Given the description of an element on the screen output the (x, y) to click on. 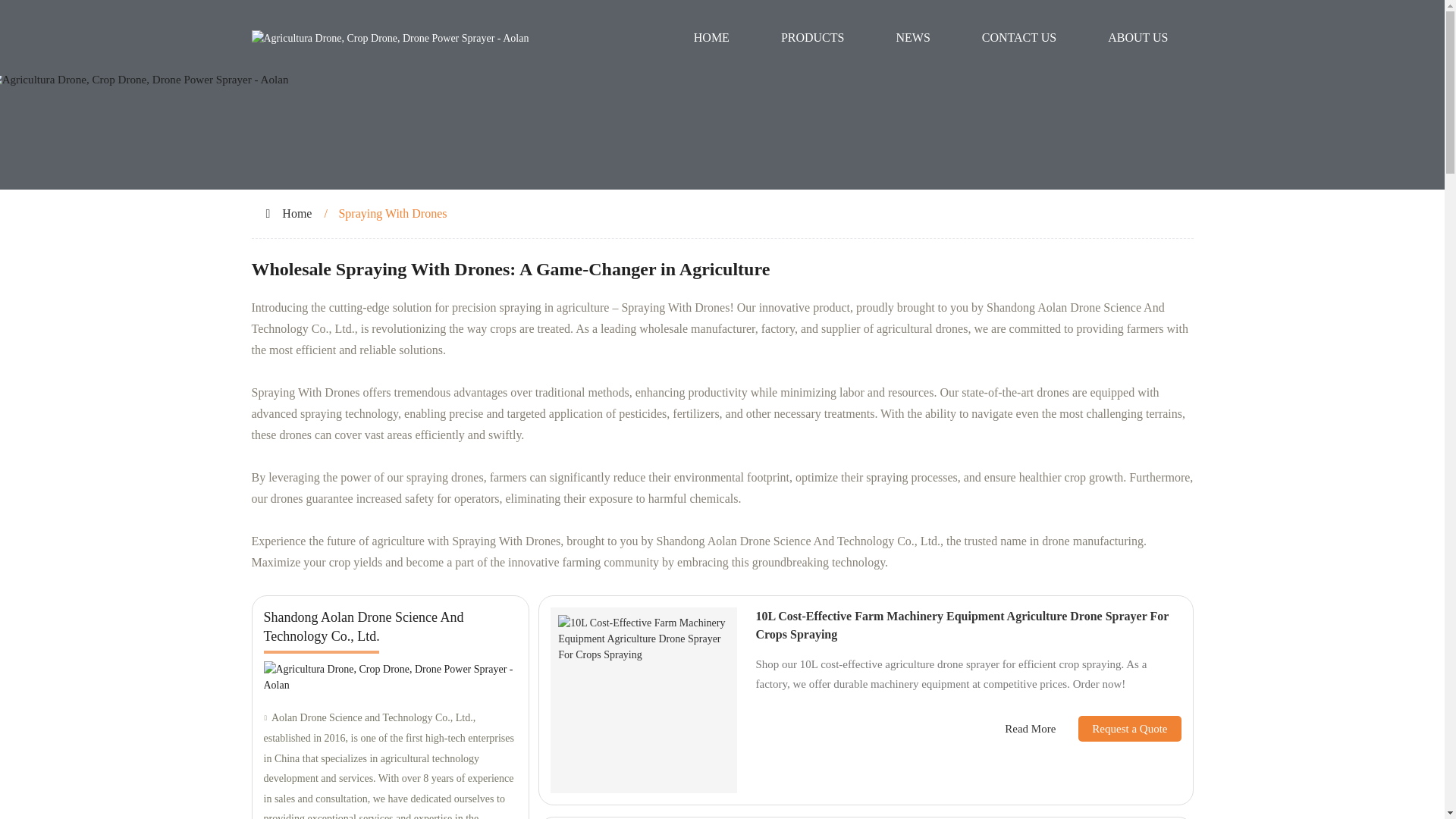
Home (296, 213)
PRODUCTS (812, 38)
Read More (1029, 728)
Request a Quote (1117, 728)
CONTACT US (1018, 38)
